Given the description of an element on the screen output the (x, y) to click on. 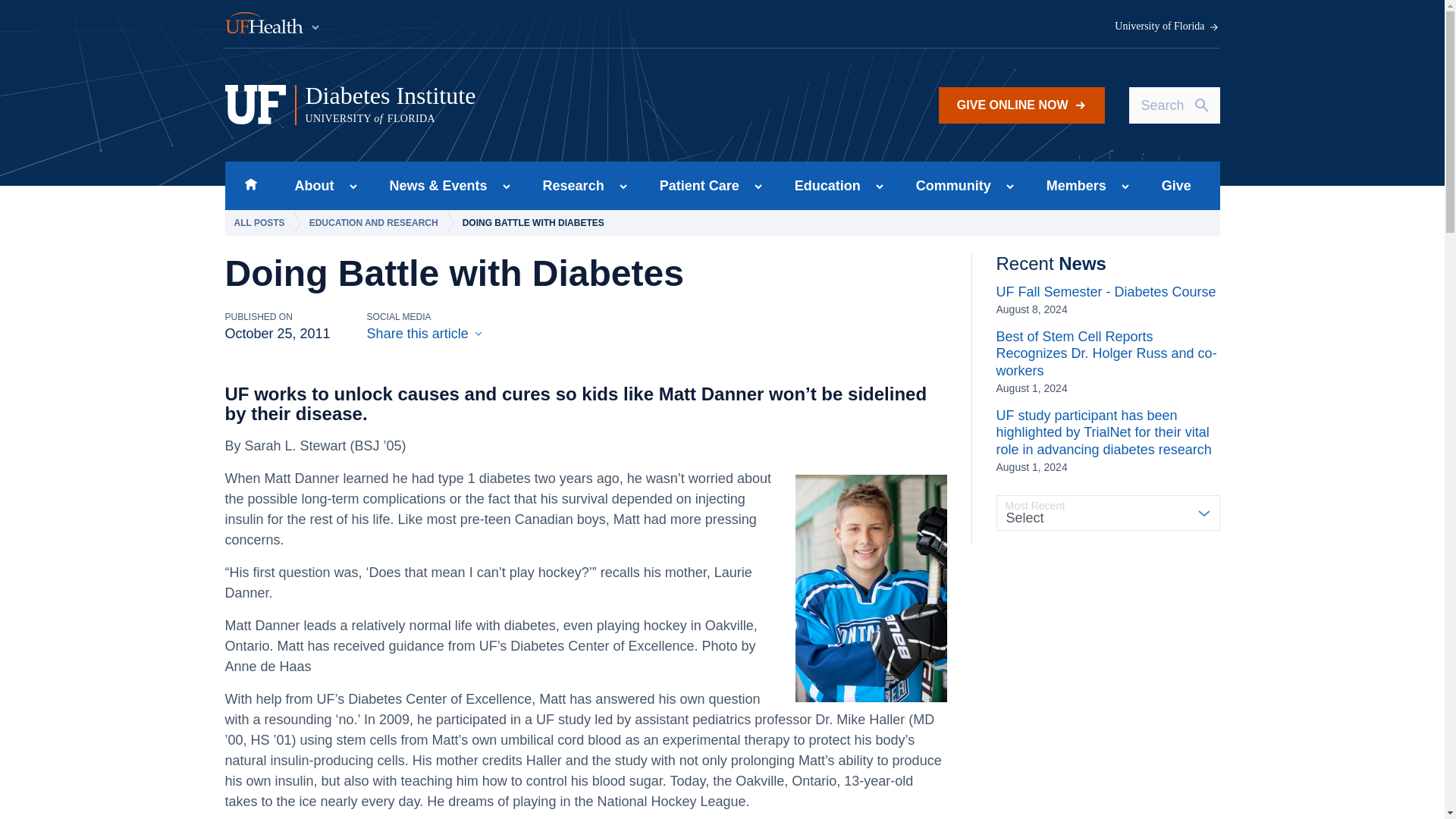
GIVE ONLINE NOW (1022, 104)
About (309, 185)
Home (250, 185)
University of Florida (1167, 26)
UF Health (515, 105)
